Given the description of an element on the screen output the (x, y) to click on. 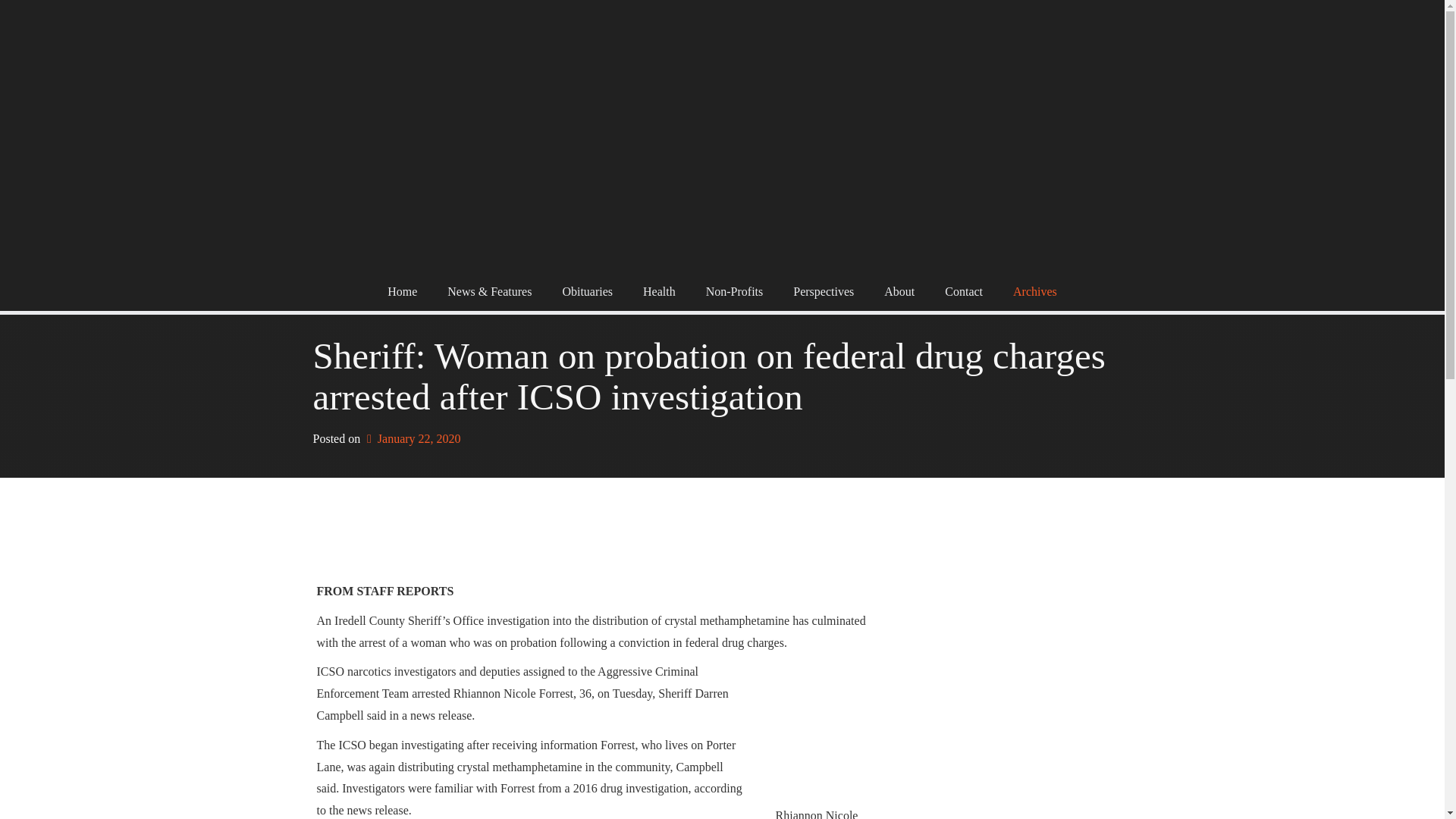
Obituaries (587, 291)
Health (658, 291)
January 22, 2020 (411, 438)
About (899, 291)
Non-Profits (734, 291)
Archives (1034, 291)
Home (402, 291)
Contact (963, 291)
Perspectives (823, 291)
